Given the description of an element on the screen output the (x, y) to click on. 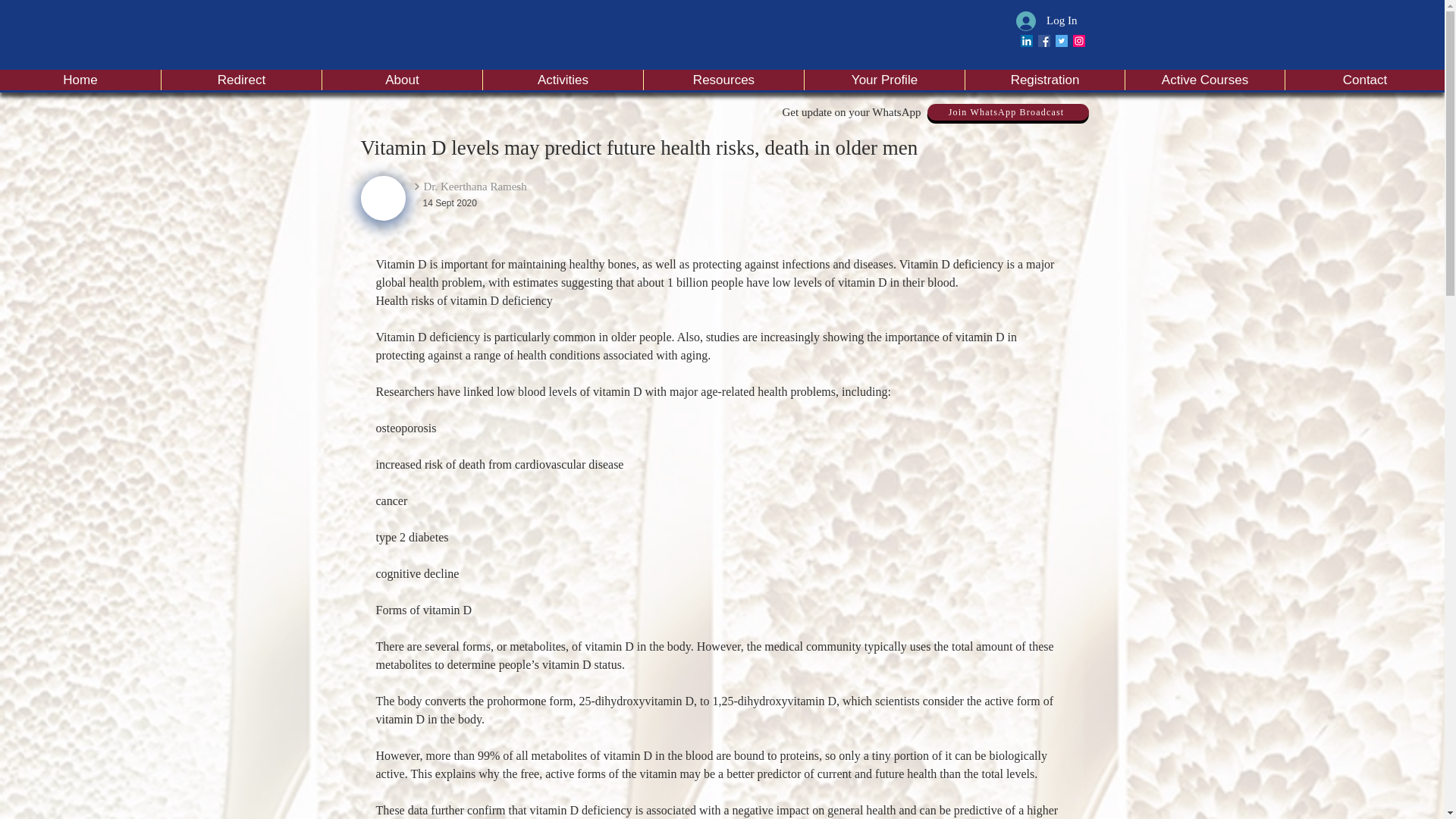
CHEARS Logo png.jpg.png (383, 198)
Home (80, 79)
Resources (723, 79)
Active Courses (1204, 79)
Dr. Keerthana Ramesh (517, 186)
Your Profile (883, 79)
Registration (1043, 79)
About (401, 79)
Activities (562, 79)
Log In (1046, 20)
